Given the description of an element on the screen output the (x, y) to click on. 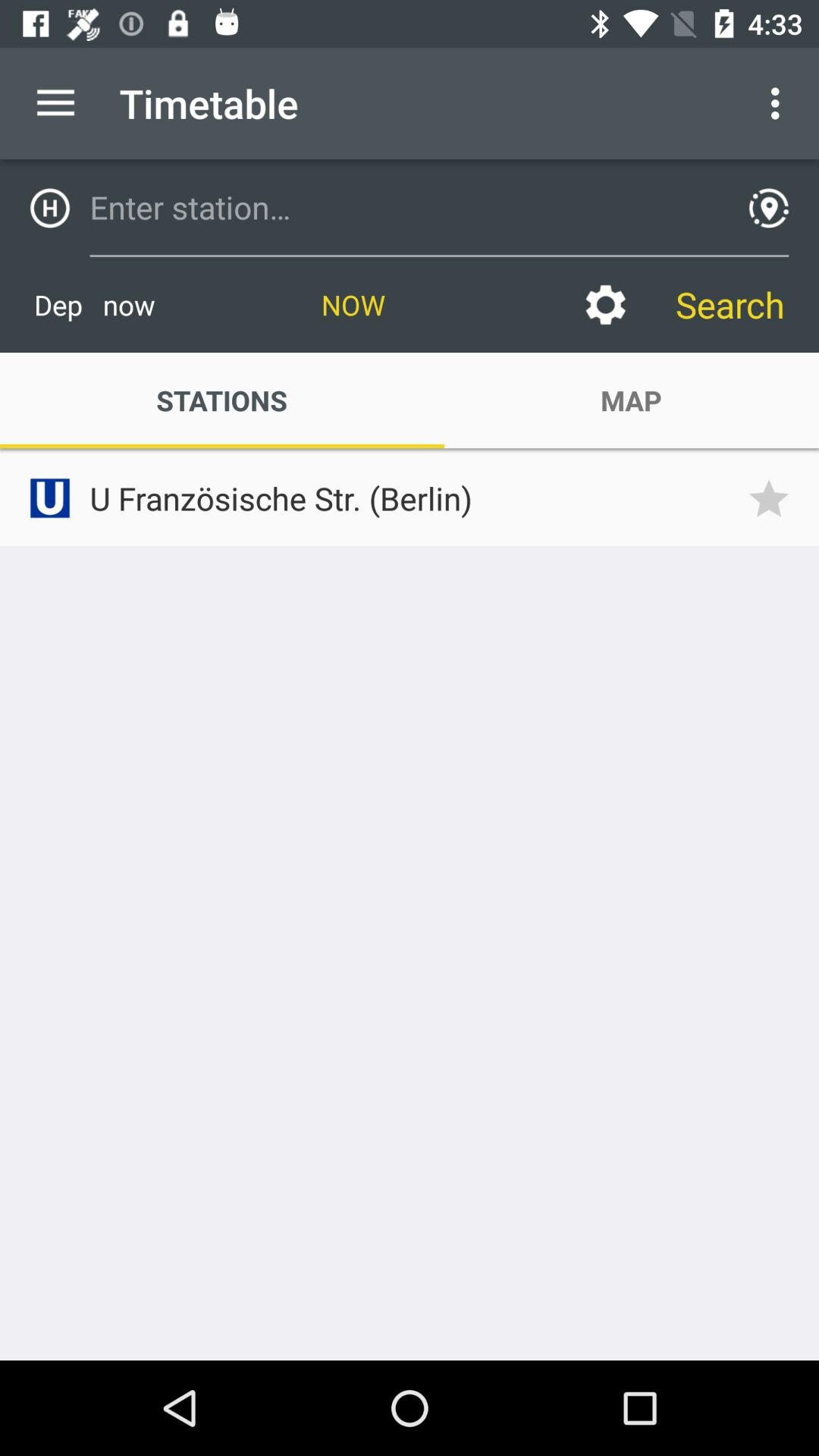
choose the icon on the right (774, 498)
